Given the description of an element on the screen output the (x, y) to click on. 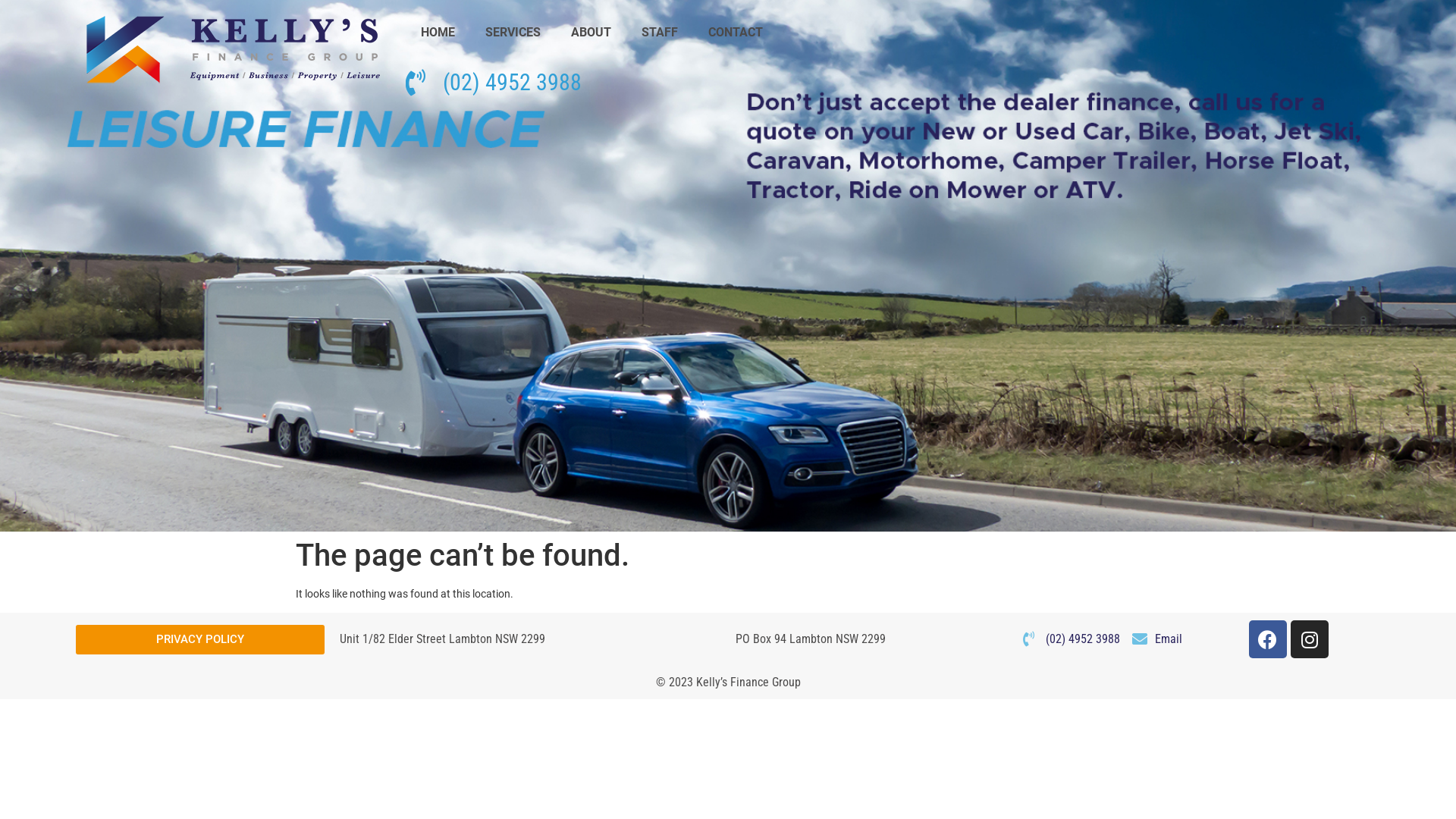
HOME Element type: text (437, 32)
PRIVACY POLICY Element type: text (199, 639)
Email Element type: text (1157, 639)
STAFF Element type: text (659, 32)
ABOUT Element type: text (590, 32)
SERVICES Element type: text (512, 32)
CONTACT Element type: text (735, 32)
